Given the description of an element on the screen output the (x, y) to click on. 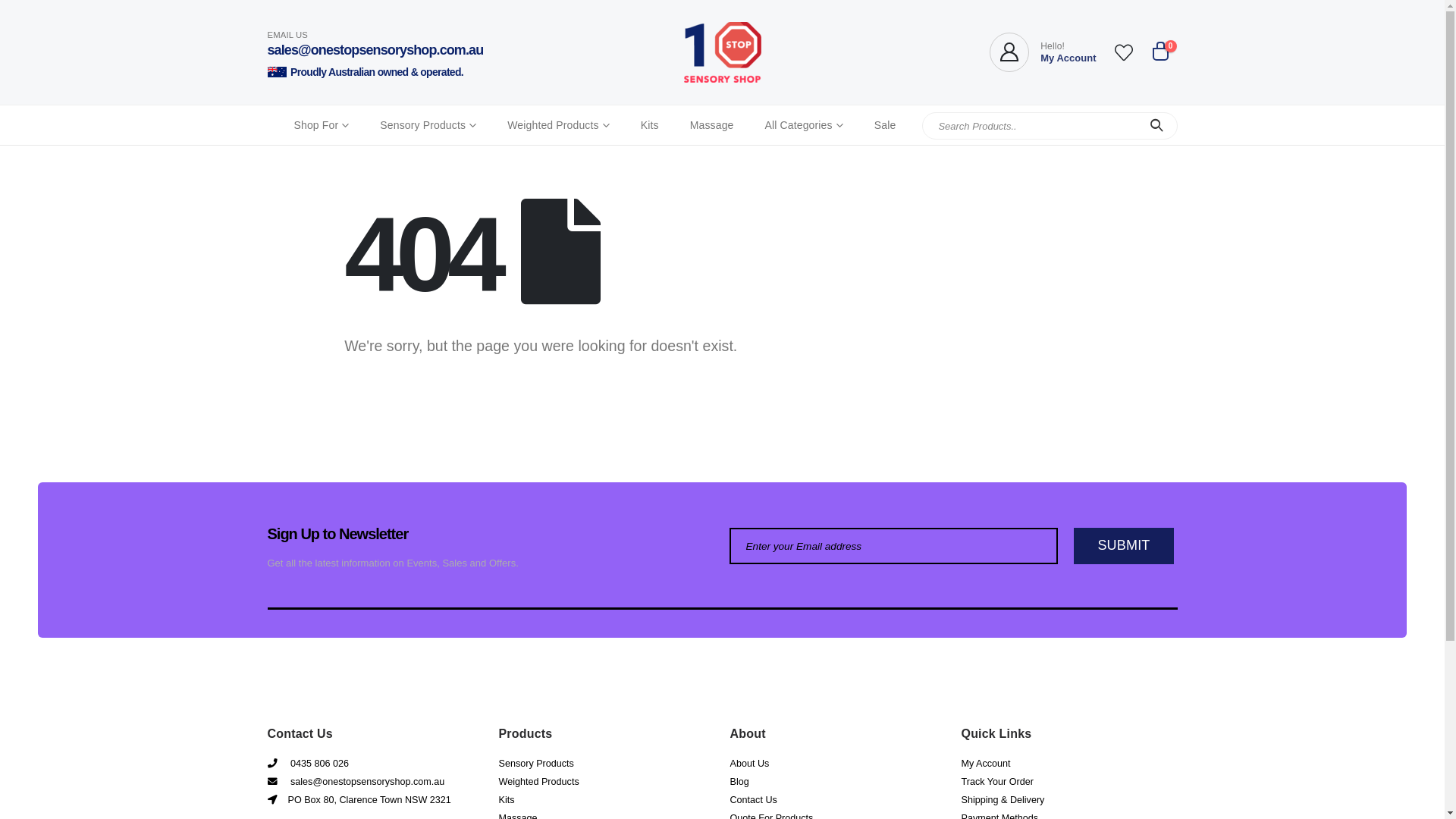
All Categories Element type: text (803, 124)
Kits Element type: text (649, 124)
Weighted Products Element type: text (558, 124)
Search Element type: hover (1156, 125)
Sale Element type: text (885, 124)
Weighted Products Element type: text (538, 781)
Contact Us Element type: text (752, 799)
Shipping & Delivery Element type: text (1002, 799)
Blog Element type: text (738, 781)
My Account Element type: text (985, 763)
Sensory Products Element type: text (536, 763)
One Stop Sensory Shop -  Element type: hover (722, 51)
EMAIL US
sales@onestopsensoryshop.com.au Element type: text (378, 43)
About Us Element type: text (748, 763)
Sensory Products Element type: text (427, 124)
Massage Element type: text (711, 124)
Track Your Order Element type: text (997, 781)
Wishlist Element type: hover (1123, 51)
Shop For Element type: text (321, 124)
SUBMIT Element type: text (1123, 545)
Hello!
My Account Element type: text (1042, 52)
Kits Element type: text (506, 799)
